Given the description of an element on the screen output the (x, y) to click on. 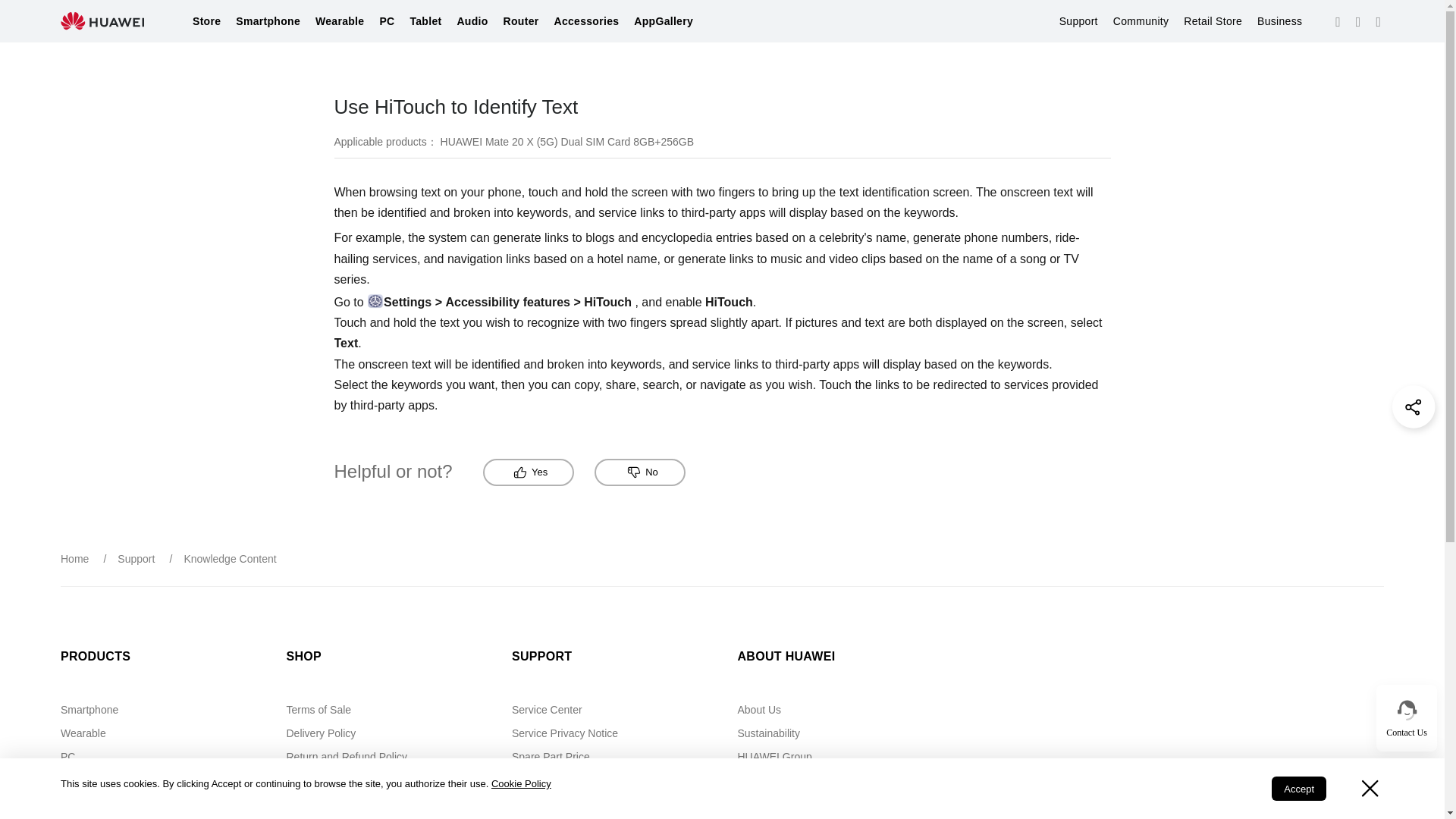
Accessories (587, 21)
AppGallery (663, 21)
Support (1078, 21)
Cookie Policy (521, 783)
Business (1279, 21)
Smartphone (267, 21)
Support (1078, 21)
Community (1141, 21)
Accept (1298, 788)
logo (102, 21)
